Given the description of an element on the screen output the (x, y) to click on. 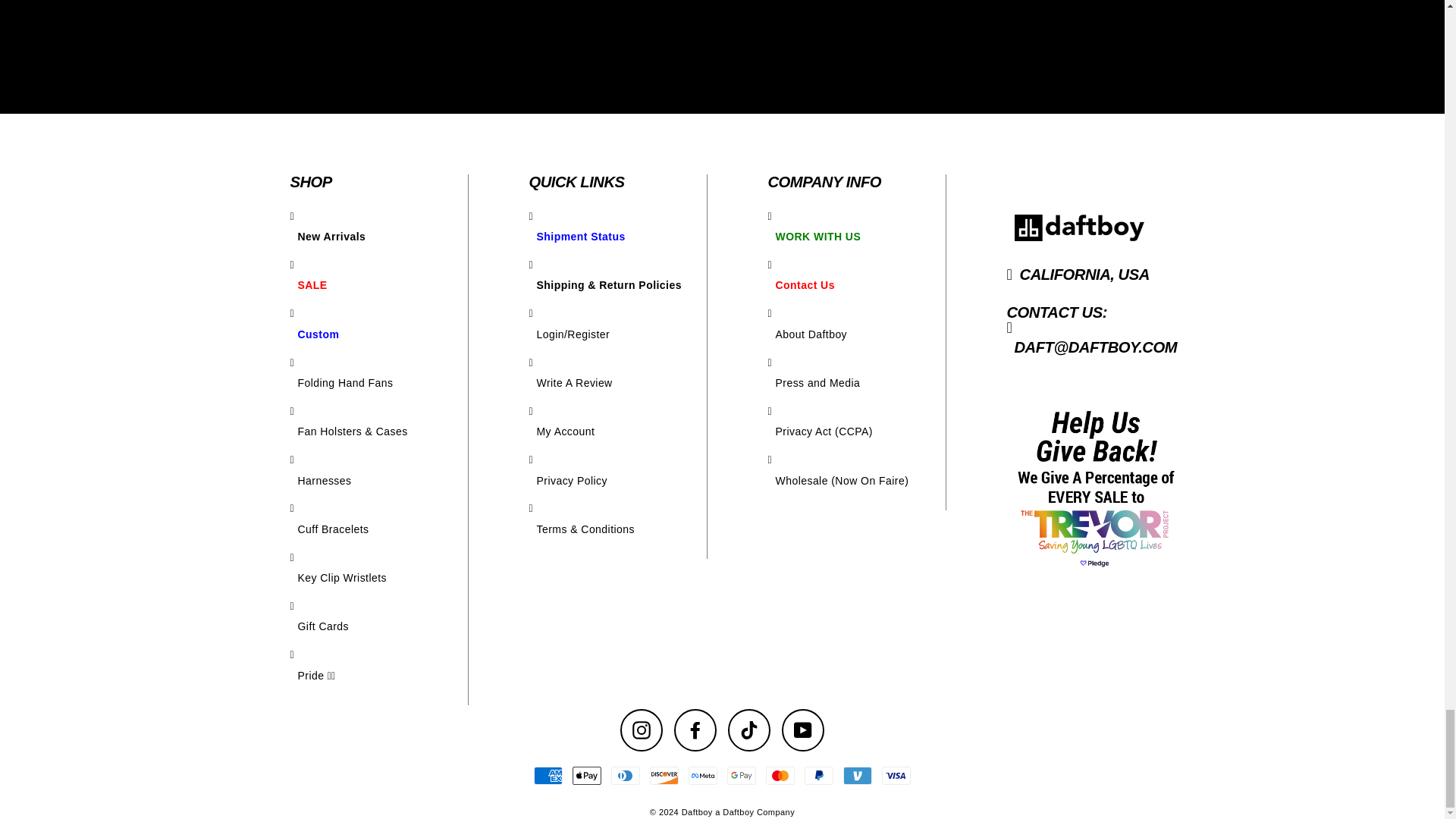
Daftboy on Instagram (641, 730)
Mastercard (779, 775)
PayPal (818, 775)
Custom (378, 334)
Apple Pay (586, 775)
Diners Club (625, 775)
Cuff Bracelets (378, 528)
Daftboy on TikTok (749, 730)
Folding Hand Fans (378, 382)
New Arrivals (378, 236)
